Given the description of an element on the screen output the (x, y) to click on. 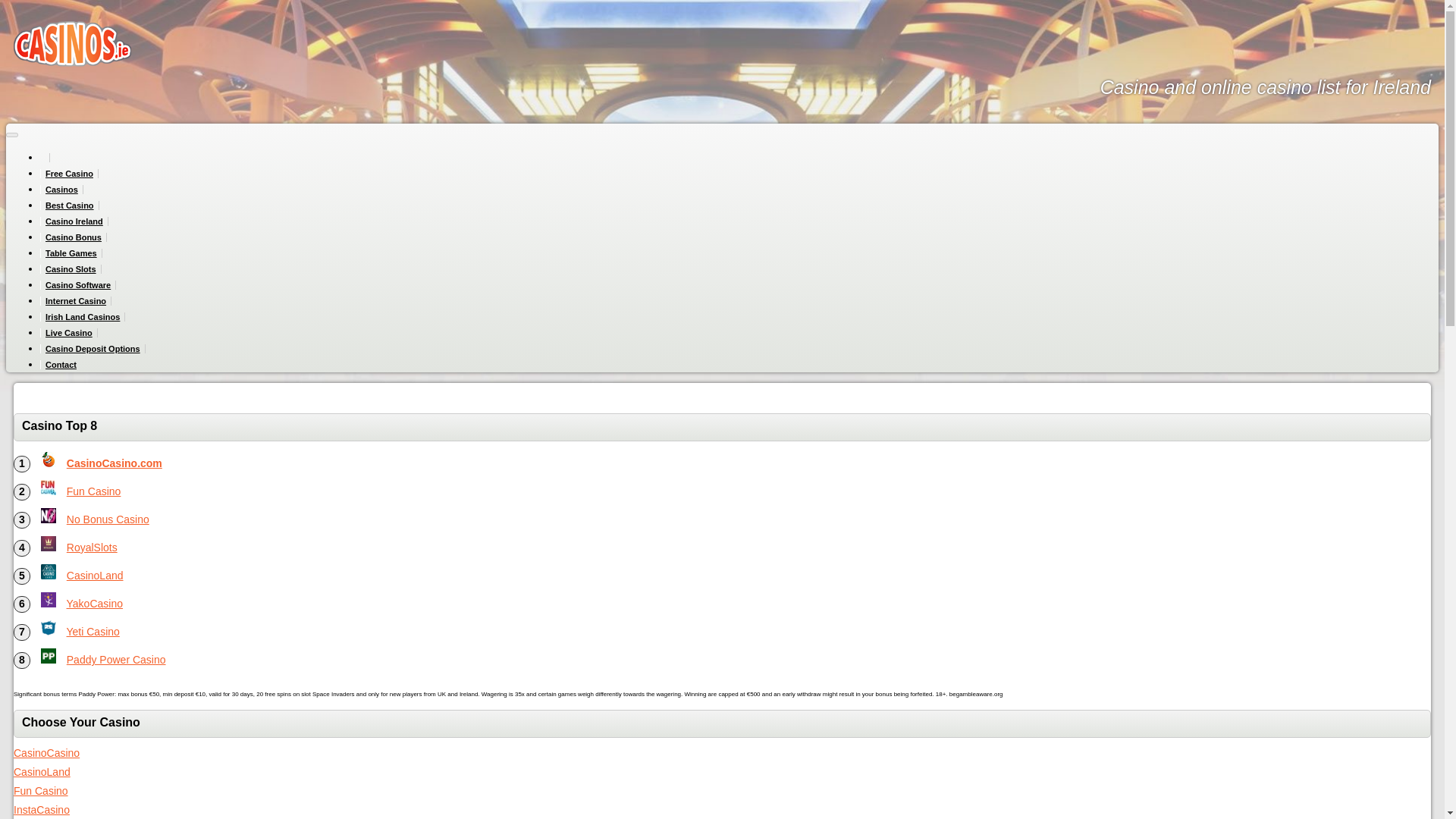
Live Casino (68, 332)
Casino Slots (70, 268)
Best Casino (69, 204)
Casino Ireland (73, 221)
Table Games (70, 252)
Yeti Casino (92, 631)
Fun Casino (40, 790)
No Bonus Casino (48, 515)
Fun Casino (48, 487)
Free Casino (69, 173)
No Bonus Casino (107, 519)
Paddy Power Casino (115, 659)
Internet Casino (76, 300)
Casino Bonus (73, 236)
YakoCasino (94, 603)
